Given the description of an element on the screen output the (x, y) to click on. 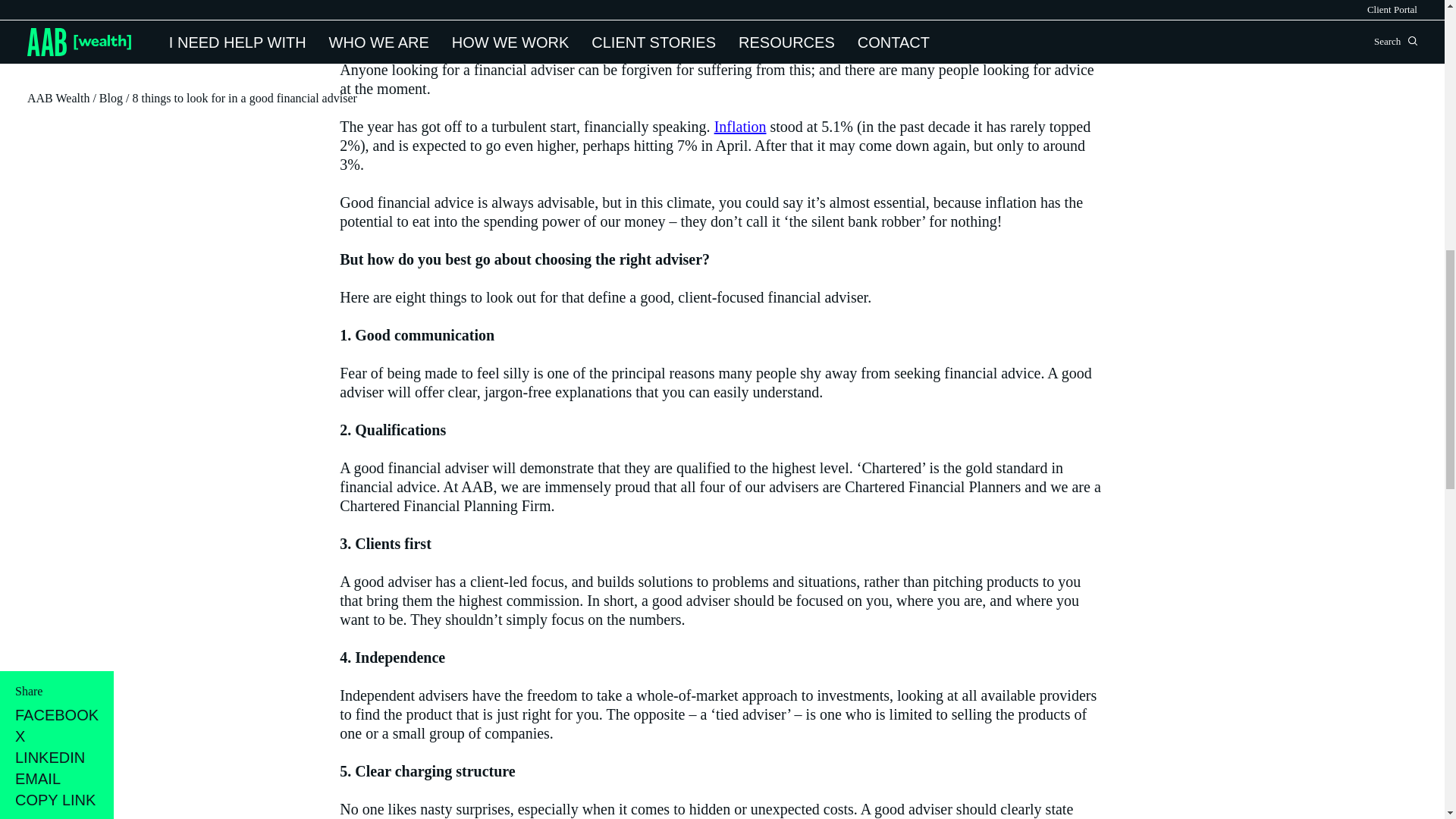
Inflation (740, 126)
